Given the description of an element on the screen output the (x, y) to click on. 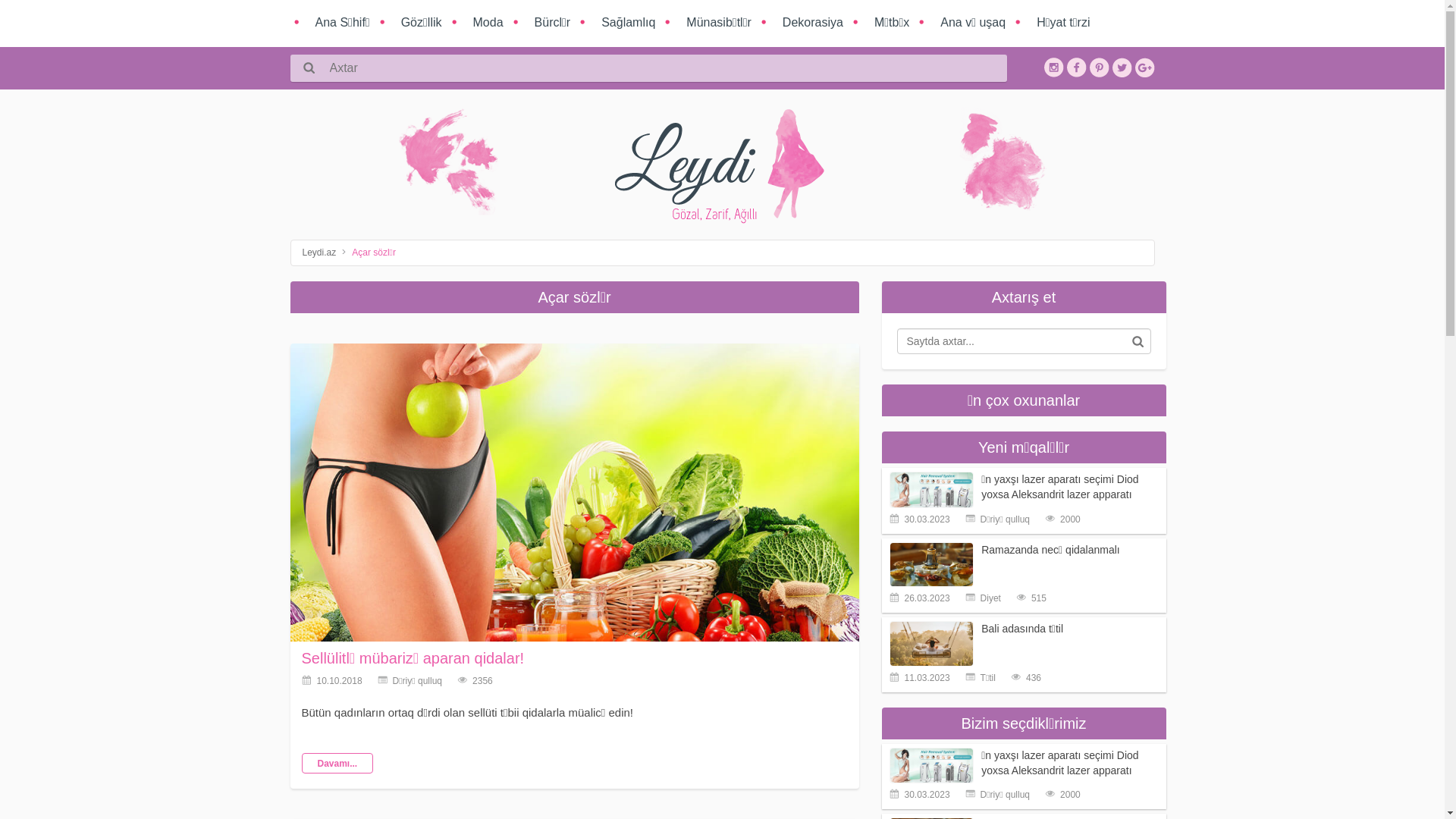
Leydi.az Element type: text (324, 252)
Diyet Element type: text (983, 598)
